Given the description of an element on the screen output the (x, y) to click on. 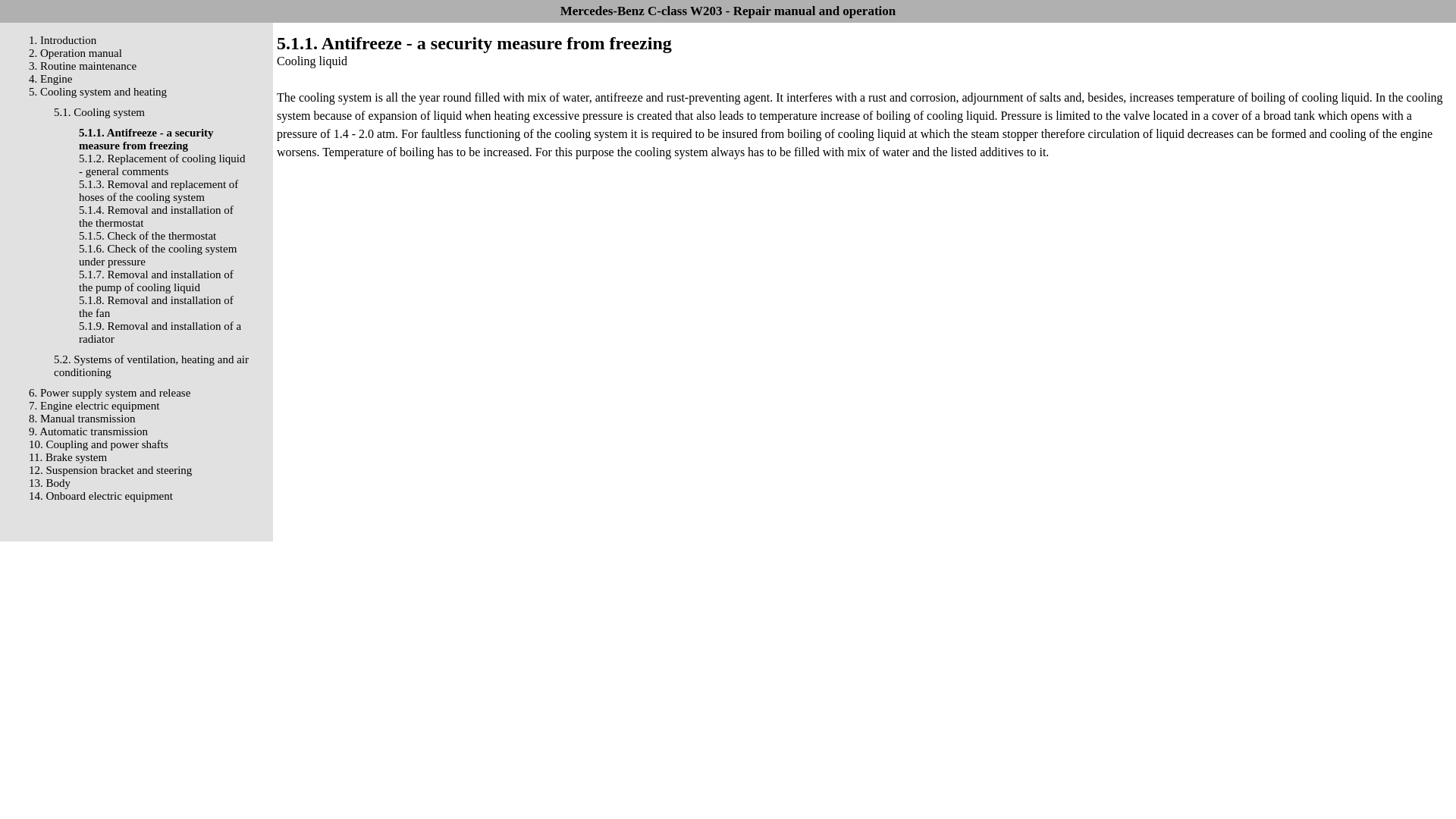
9. Automatic transmission (88, 431)
5. Cooling system and heating (98, 91)
4. Engine (50, 78)
5.1.2. Replacement of cooling liquid - general comments (162, 164)
5.1.4. Removal and installation of the thermostat (155, 216)
5.1.5. Check of the thermostat (146, 235)
7. Engine electric equipment (93, 405)
6. Power supply system and release (109, 392)
1. Introduction (62, 39)
5.1.6. Check of the cooling system under pressure (156, 254)
12. Suspension bracket and steering (110, 469)
14. Onboard electric equipment (101, 495)
5.2. Systems of ventilation, heating and air conditioning (150, 365)
5.1.8. Removal and installation of the fan (155, 306)
